Given the description of an element on the screen output the (x, y) to click on. 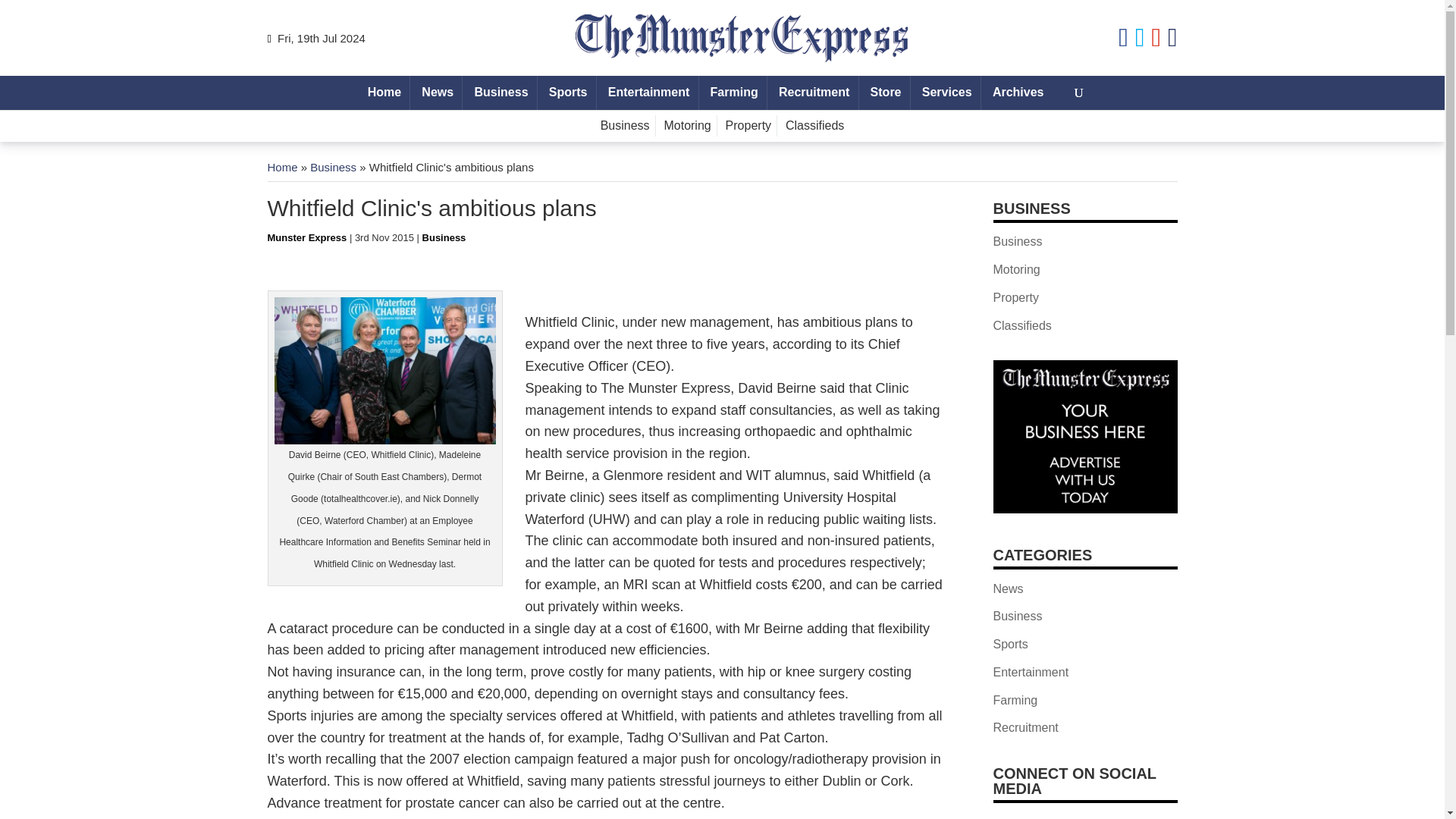
Posts by Munster Express (306, 237)
Archives (1018, 92)
Home (383, 92)
News (437, 92)
Store (884, 92)
Entertainment (648, 92)
Sports (567, 92)
Farming (734, 92)
Services (946, 92)
Recruitment (814, 92)
Business (501, 92)
